Given the description of an element on the screen output the (x, y) to click on. 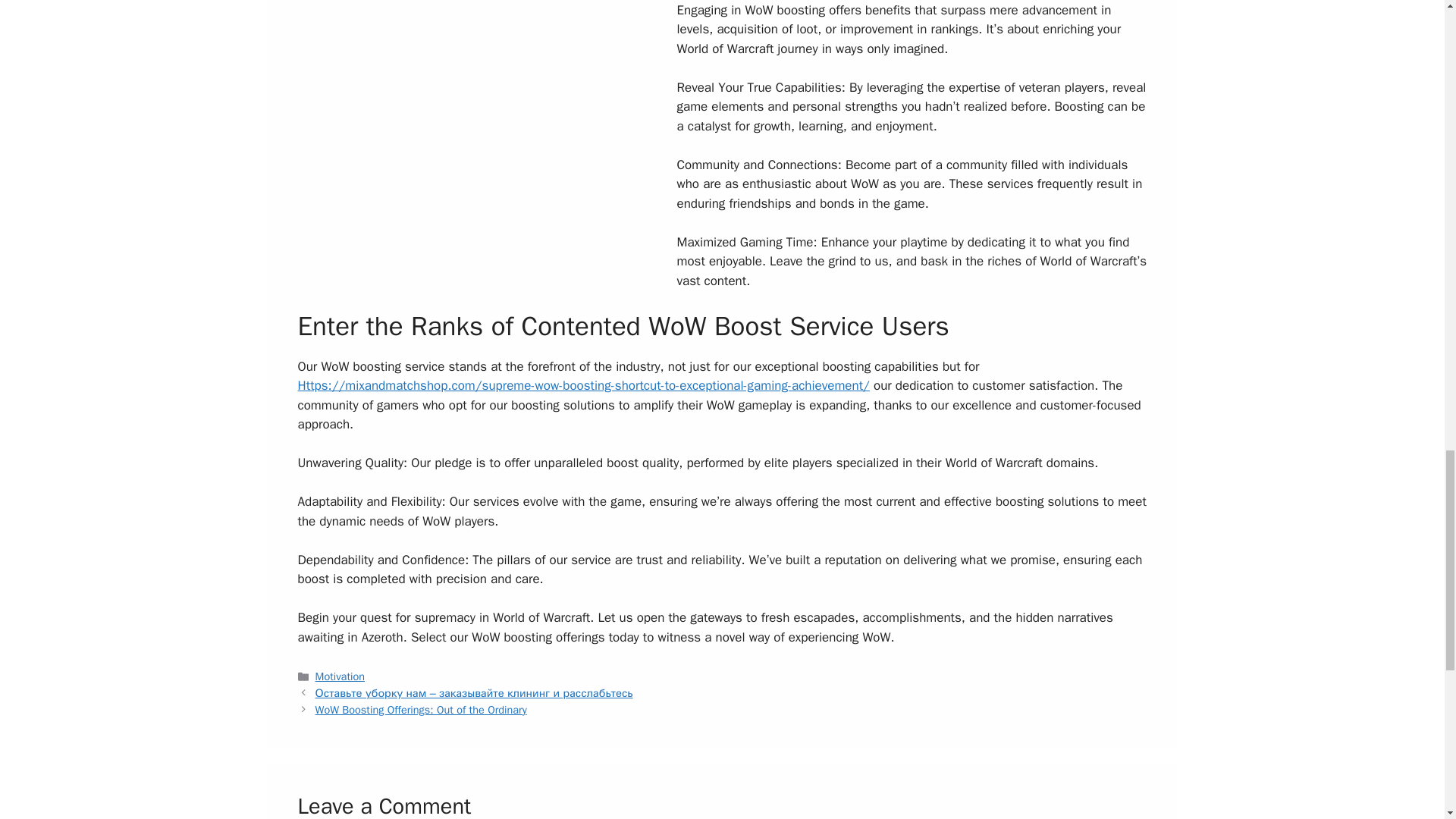
Motivation (340, 676)
WoW Boosting Services: Beyond the Ordinary 3 (487, 154)
WoW Boosting Offerings: Out of the Ordinary (421, 709)
